Given the description of an element on the screen output the (x, y) to click on. 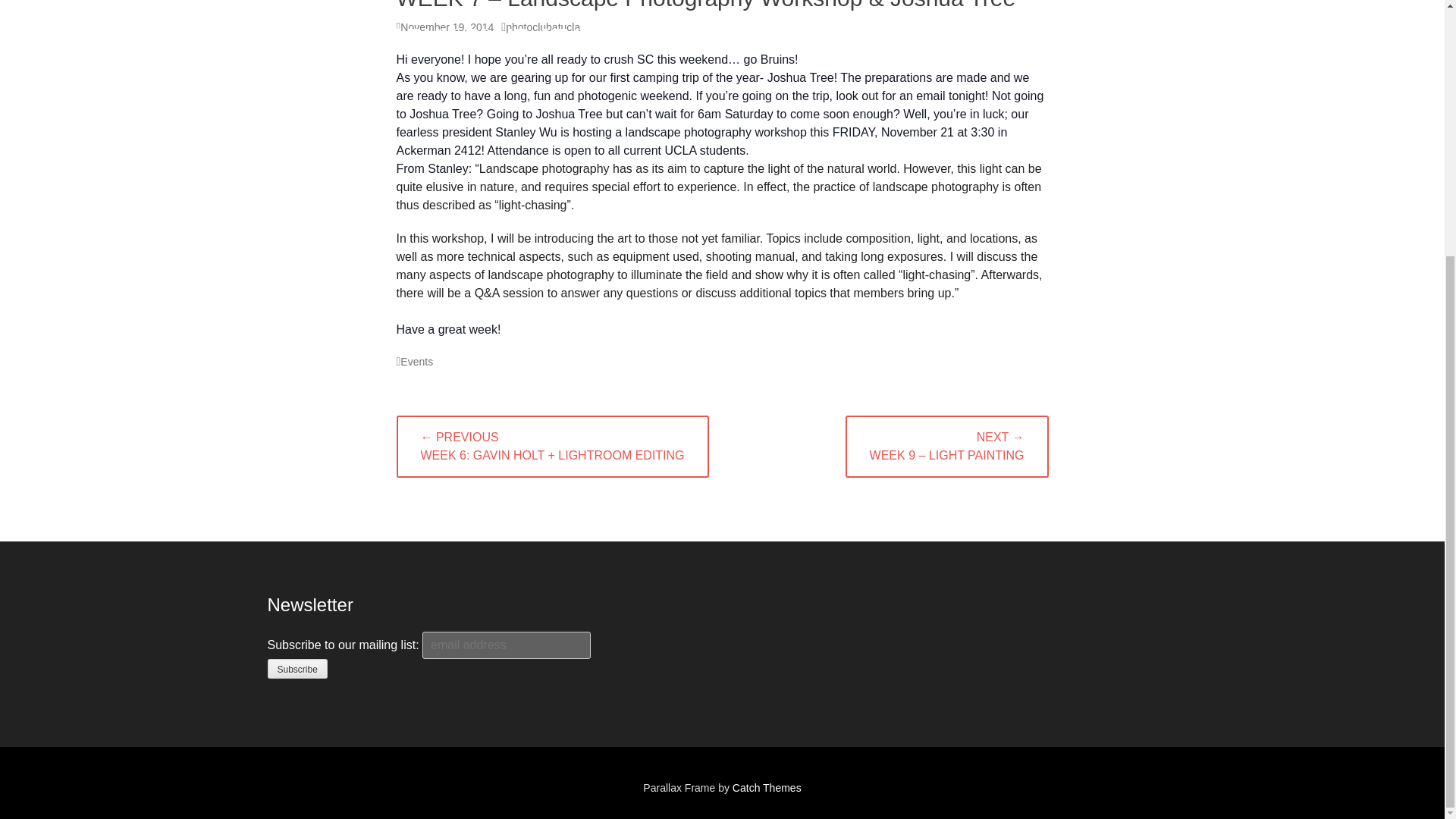
Subscribe (296, 668)
Catch Themes (767, 787)
November 19, 2014 (444, 27)
Events (414, 361)
photoclubatucla (539, 27)
Subscribe (296, 668)
